Given the description of an element on the screen output the (x, y) to click on. 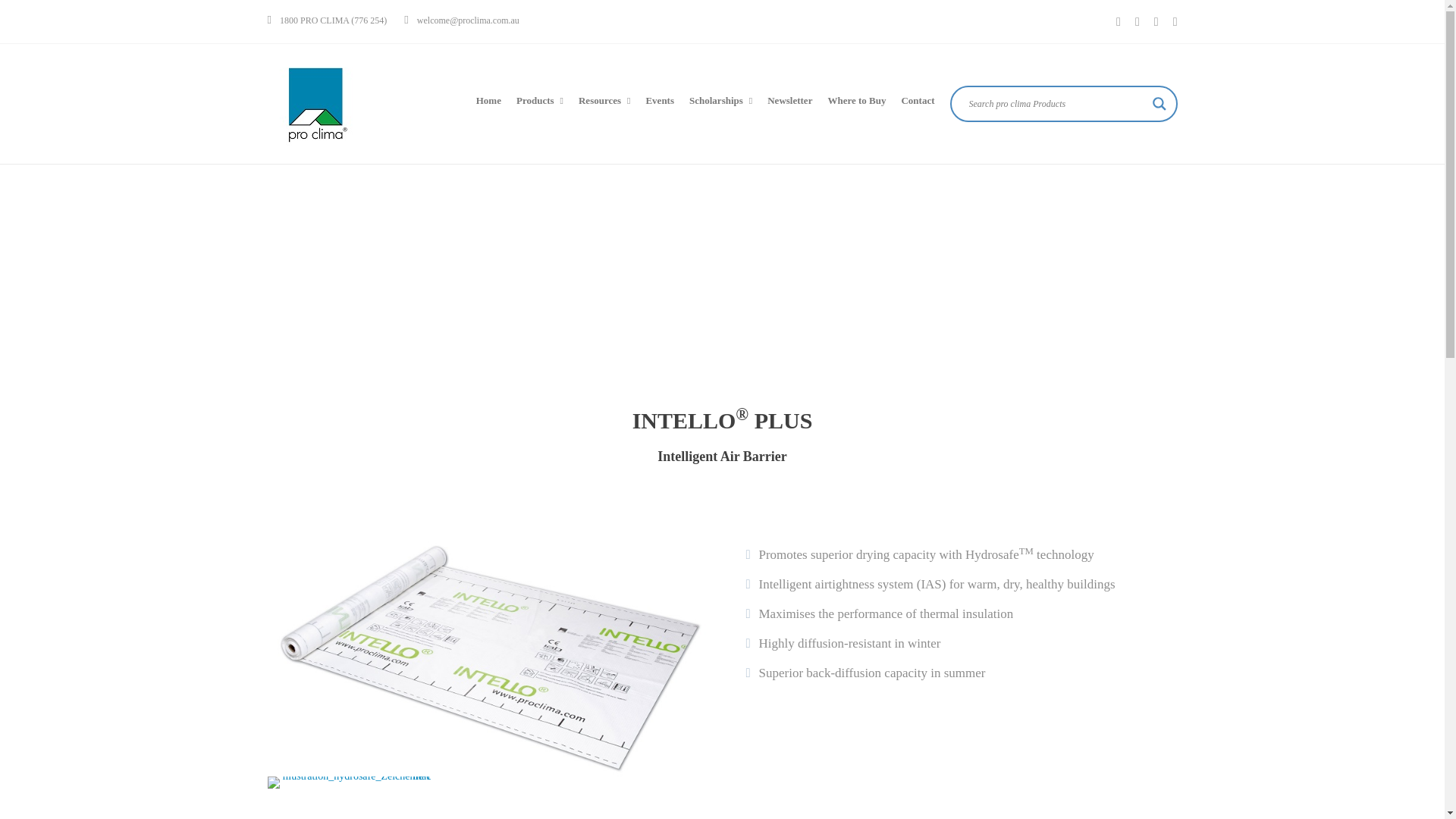
Products (707, 293)
Home (646, 293)
Airtightness (783, 293)
